Given the description of an element on the screen output the (x, y) to click on. 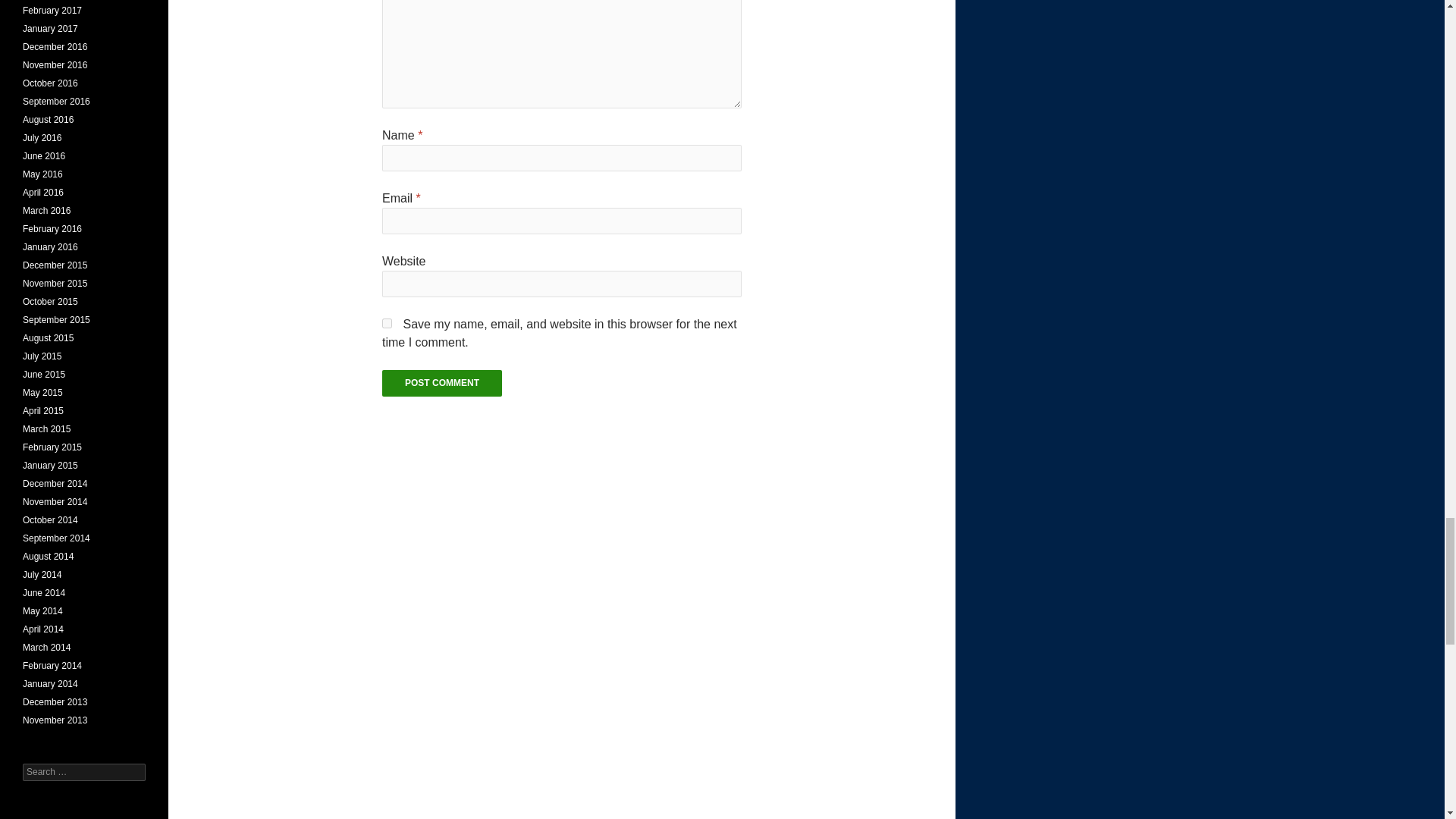
Post Comment (441, 383)
yes (386, 323)
Post Comment (441, 383)
